Given the description of an element on the screen output the (x, y) to click on. 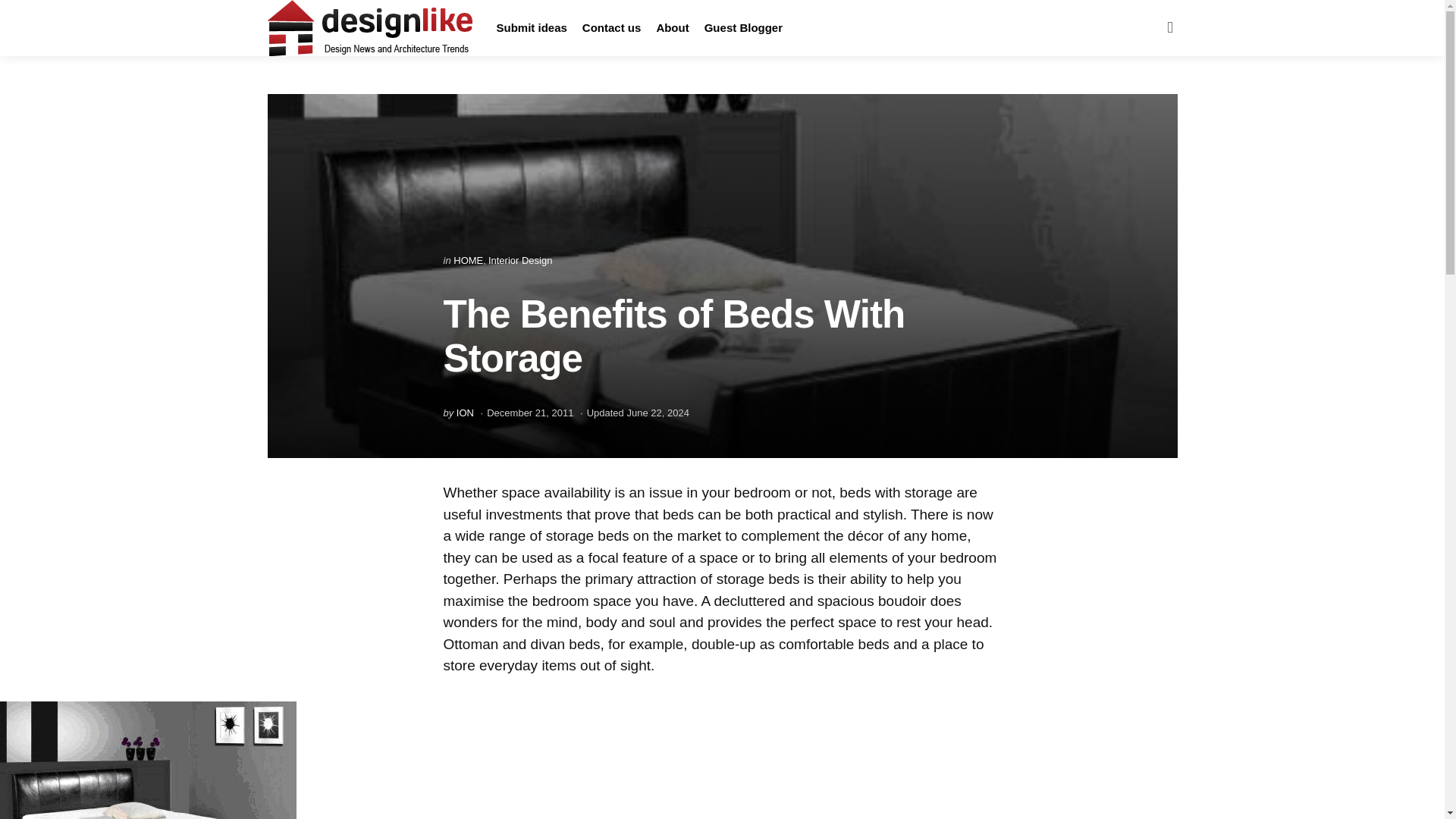
ION (465, 411)
Interior Design (520, 260)
HOME (467, 260)
Guest Blogger (743, 27)
Submit ideas (531, 27)
Contact us (612, 27)
bed (147, 760)
About (672, 27)
